Given the description of an element on the screen output the (x, y) to click on. 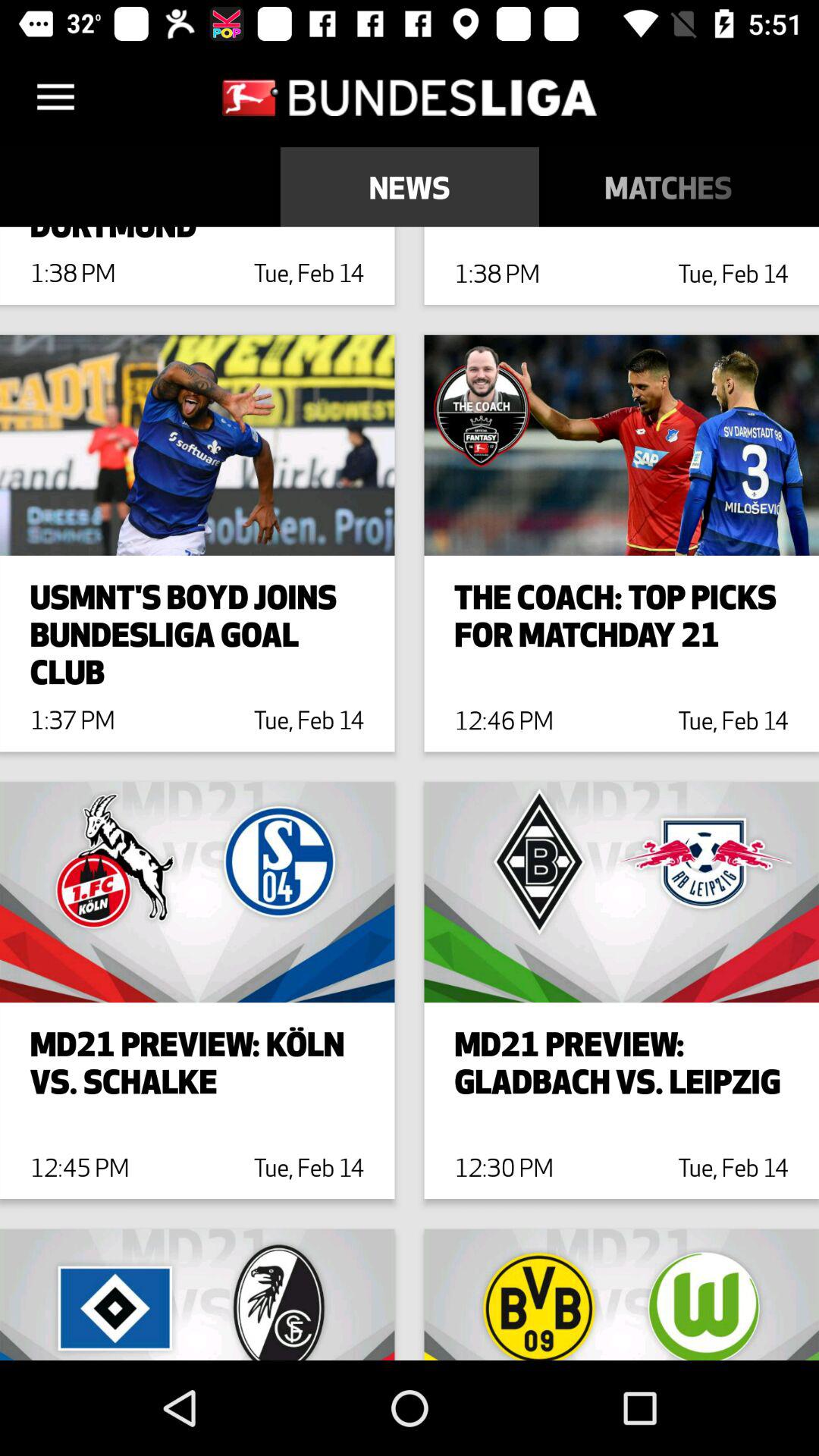
choose the table (808, 186)
